Given the description of an element on the screen output the (x, y) to click on. 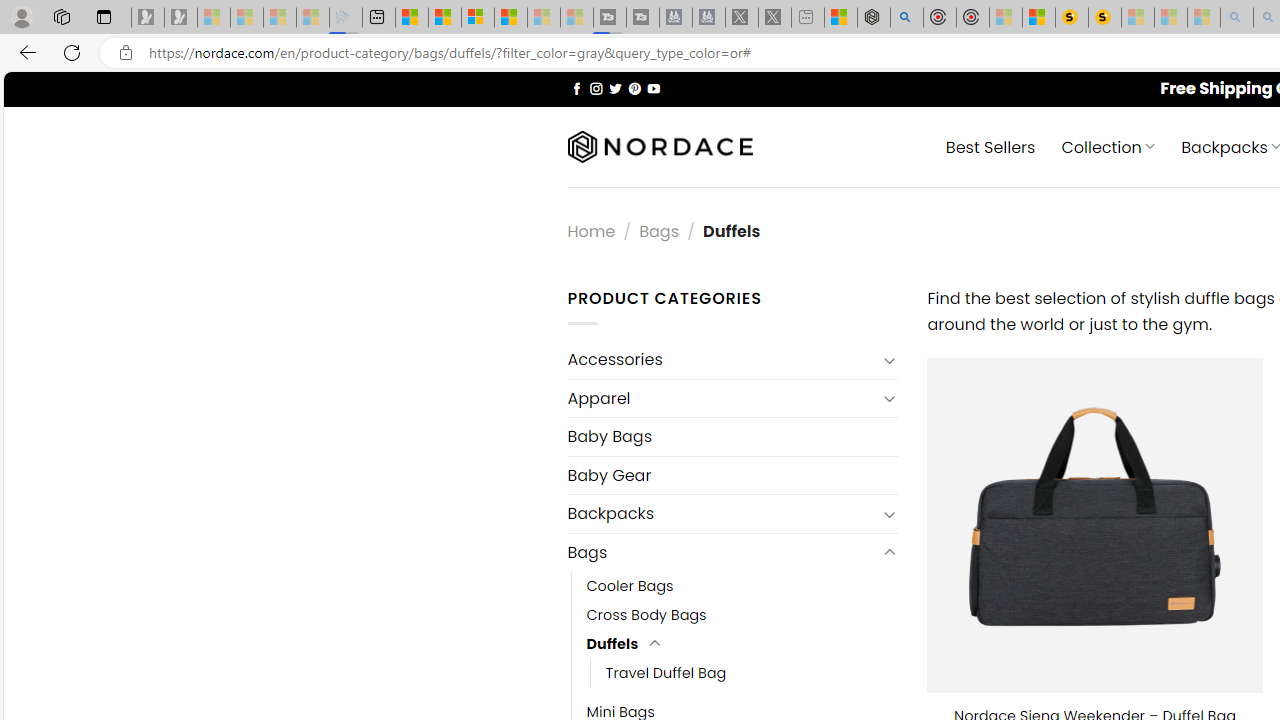
  Best Sellers (989, 146)
Streaming Coverage | T3 - Sleeping (609, 17)
amazon - Search - Sleeping (1237, 17)
Baby Gear (732, 475)
Follow on YouTube (653, 88)
Microsoft Start - Sleeping (543, 17)
Follow on Instagram (596, 88)
